Given the description of an element on the screen output the (x, y) to click on. 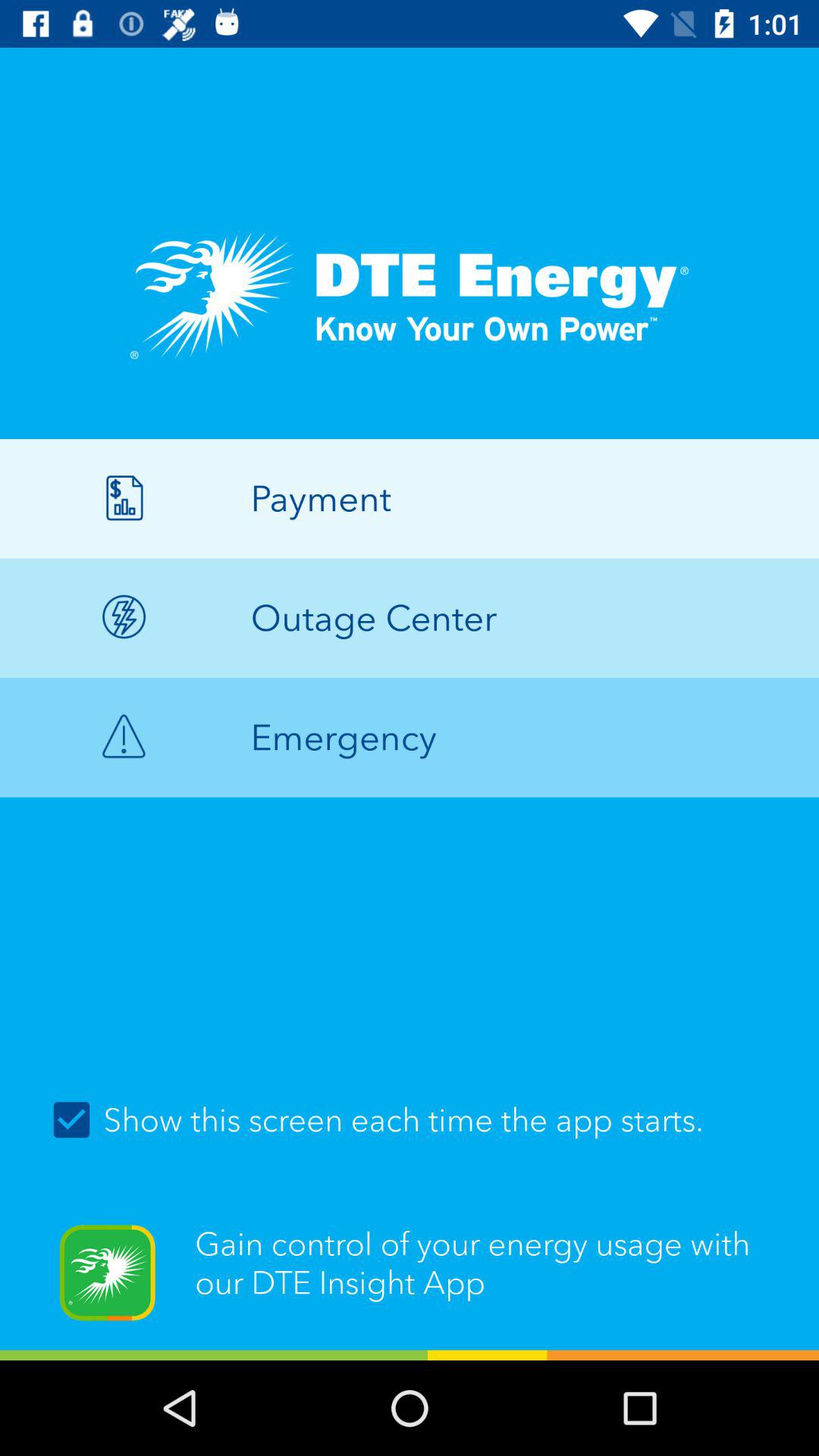
click the icon below show this screen (409, 1282)
